Given the description of an element on the screen output the (x, y) to click on. 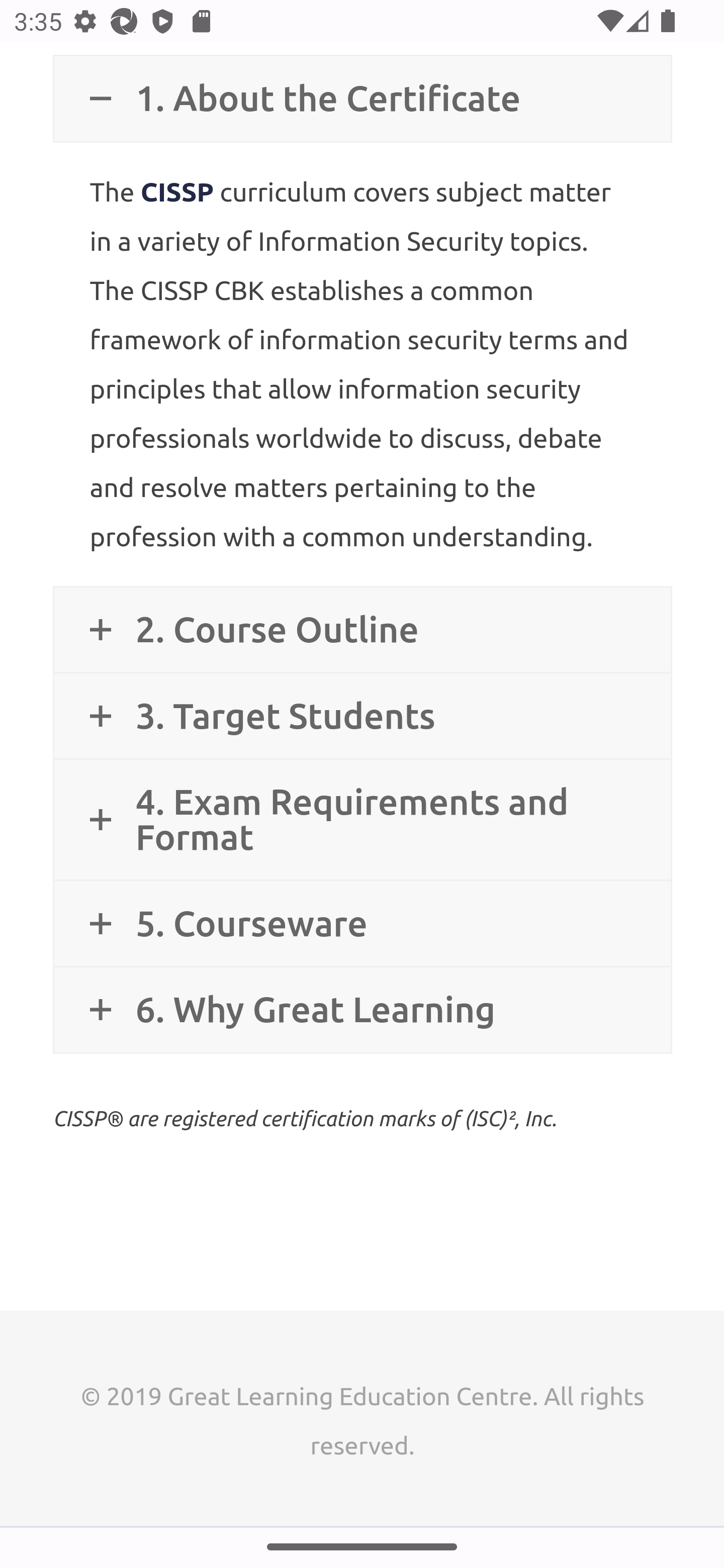
5. Courseware 5. Courseware 5. Courseware (361, 924)
